Given the description of an element on the screen output the (x, y) to click on. 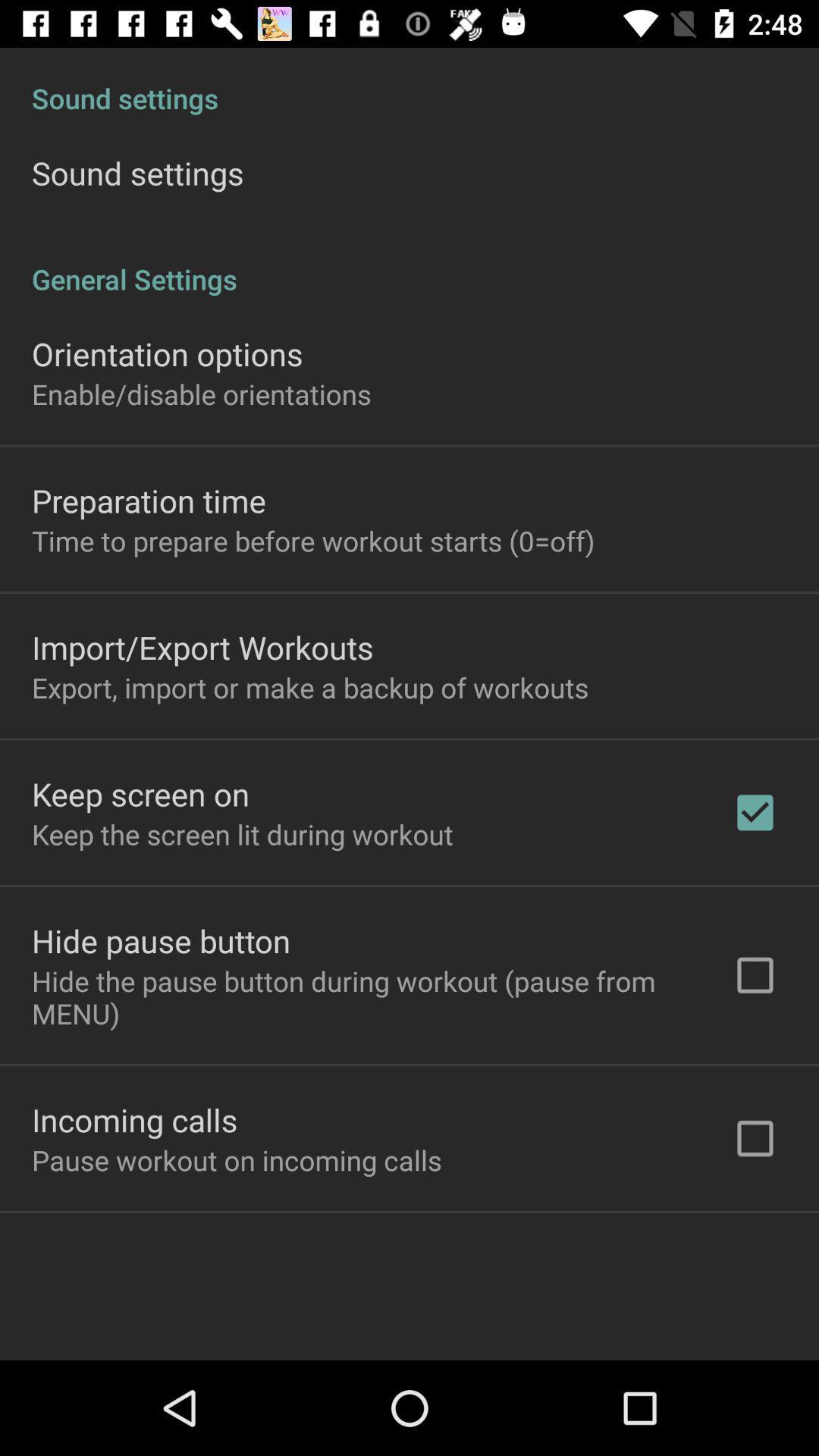
swipe to the time to prepare (312, 540)
